Given the description of an element on the screen output the (x, y) to click on. 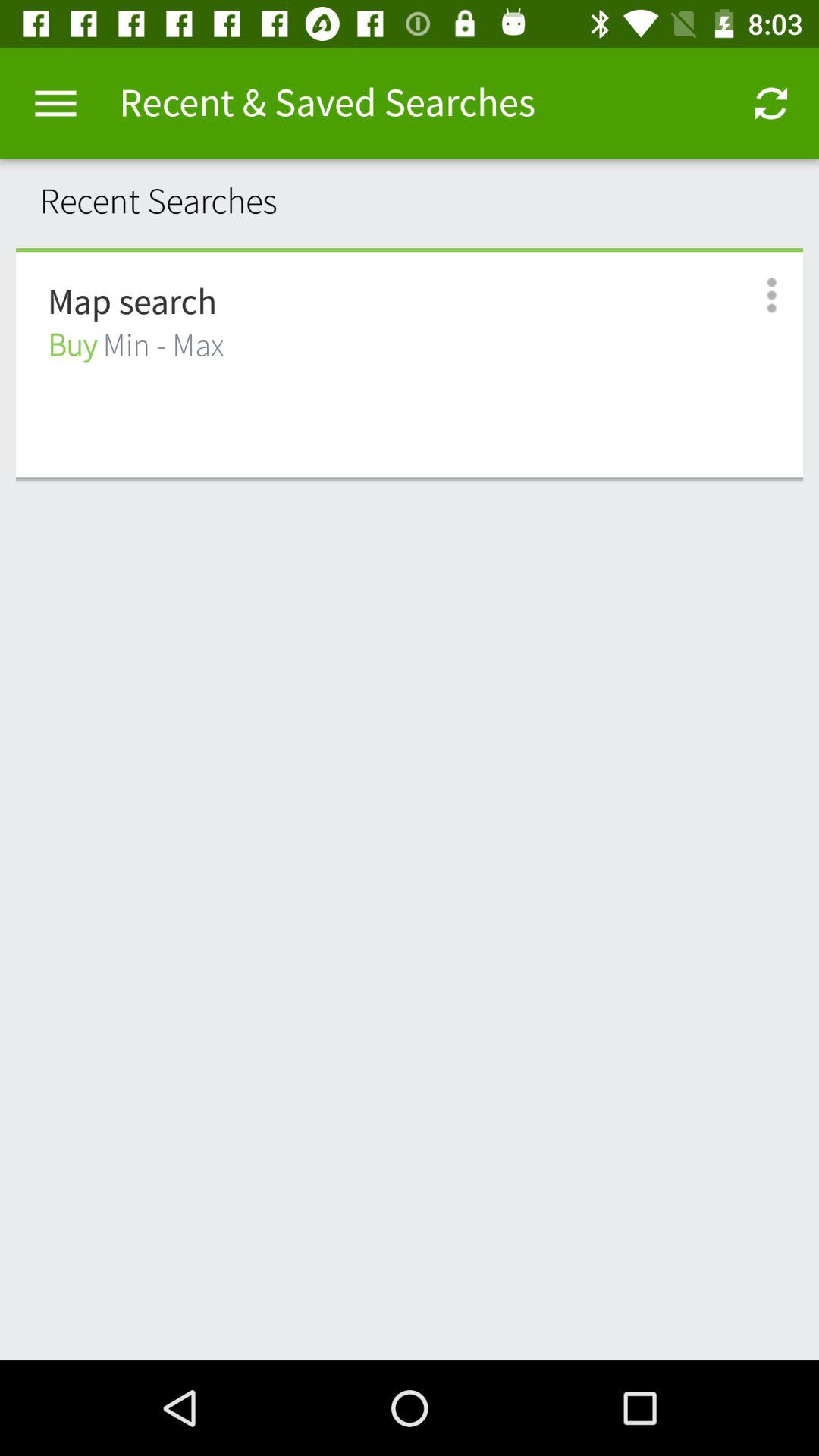
launch buy min - max item (135, 345)
